Given the description of an element on the screen output the (x, y) to click on. 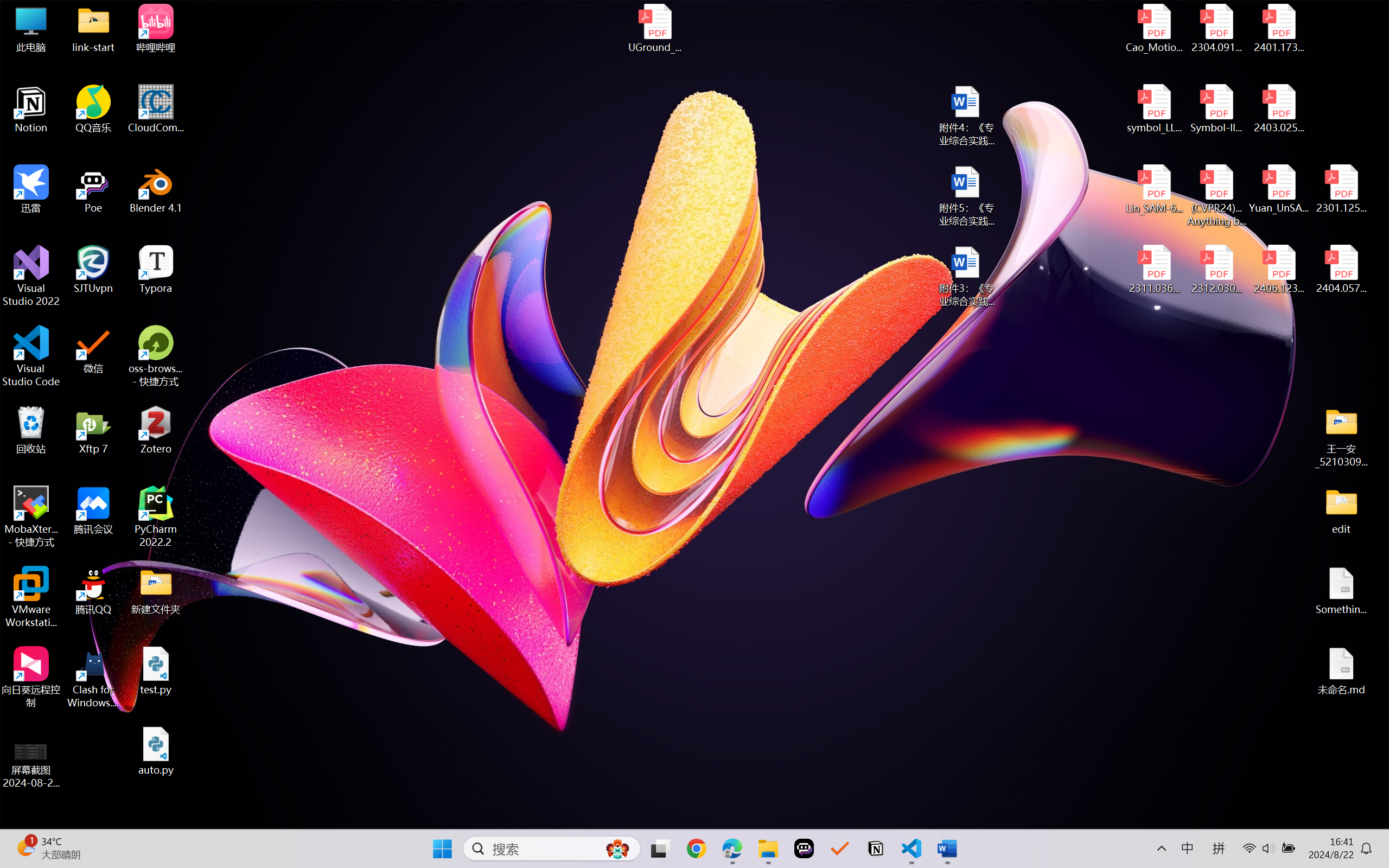
2304.09121v3.pdf (1216, 28)
Symbol-llm-v2.pdf (1216, 109)
2312.03032v2.pdf (1216, 269)
Typora (156, 269)
2401.17399v1.pdf (1278, 28)
